Given the description of an element on the screen output the (x, y) to click on. 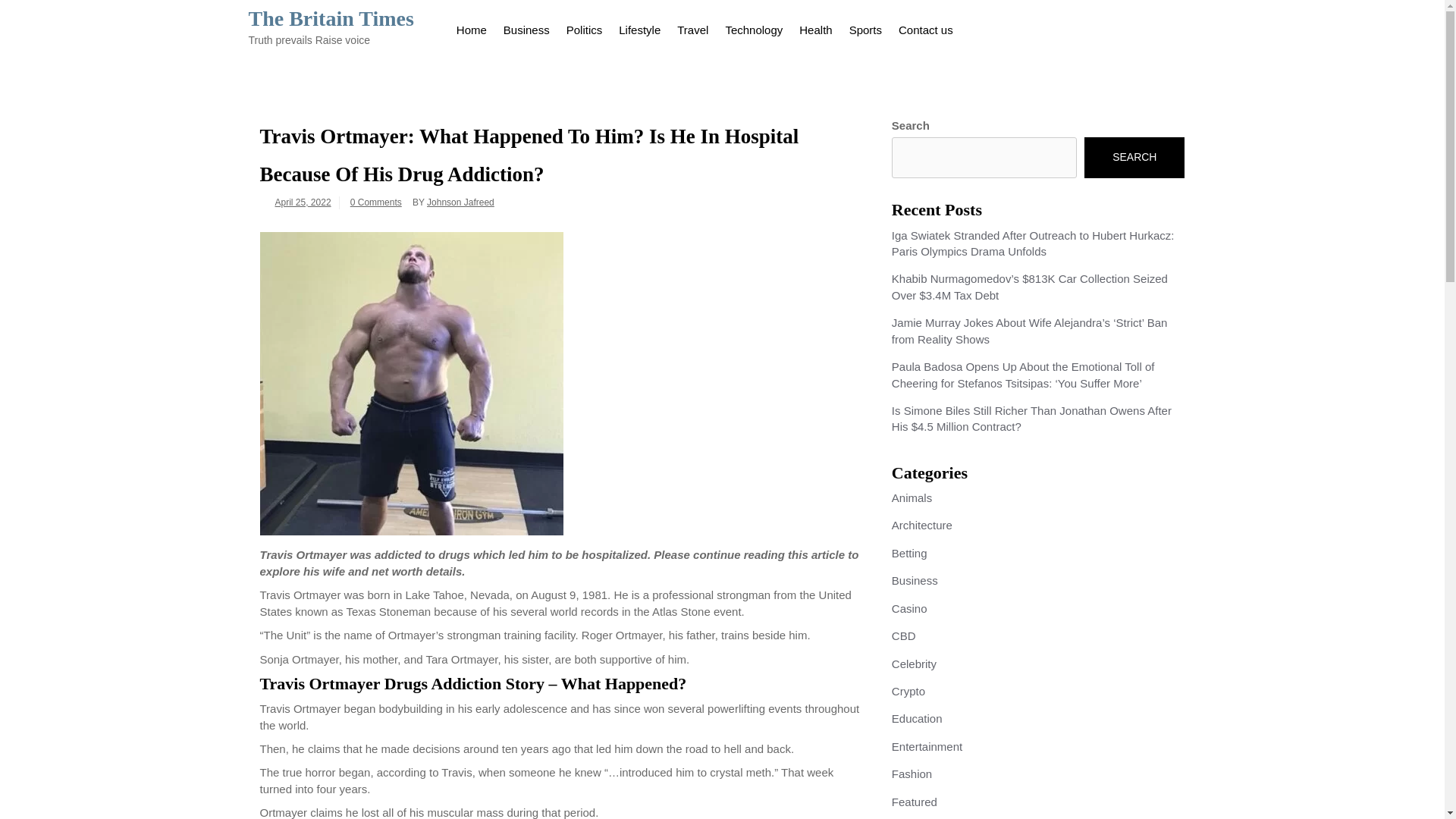
Travel (692, 28)
Architecture (921, 524)
Animals (911, 497)
Lifestyle (639, 28)
Health (815, 28)
Business (526, 28)
Technology (753, 28)
Travel (692, 28)
April 25, 2022 (302, 202)
SEARCH (1134, 157)
Sports (865, 28)
Sports (865, 28)
Politics (584, 28)
Business (526, 28)
